Given the description of an element on the screen output the (x, y) to click on. 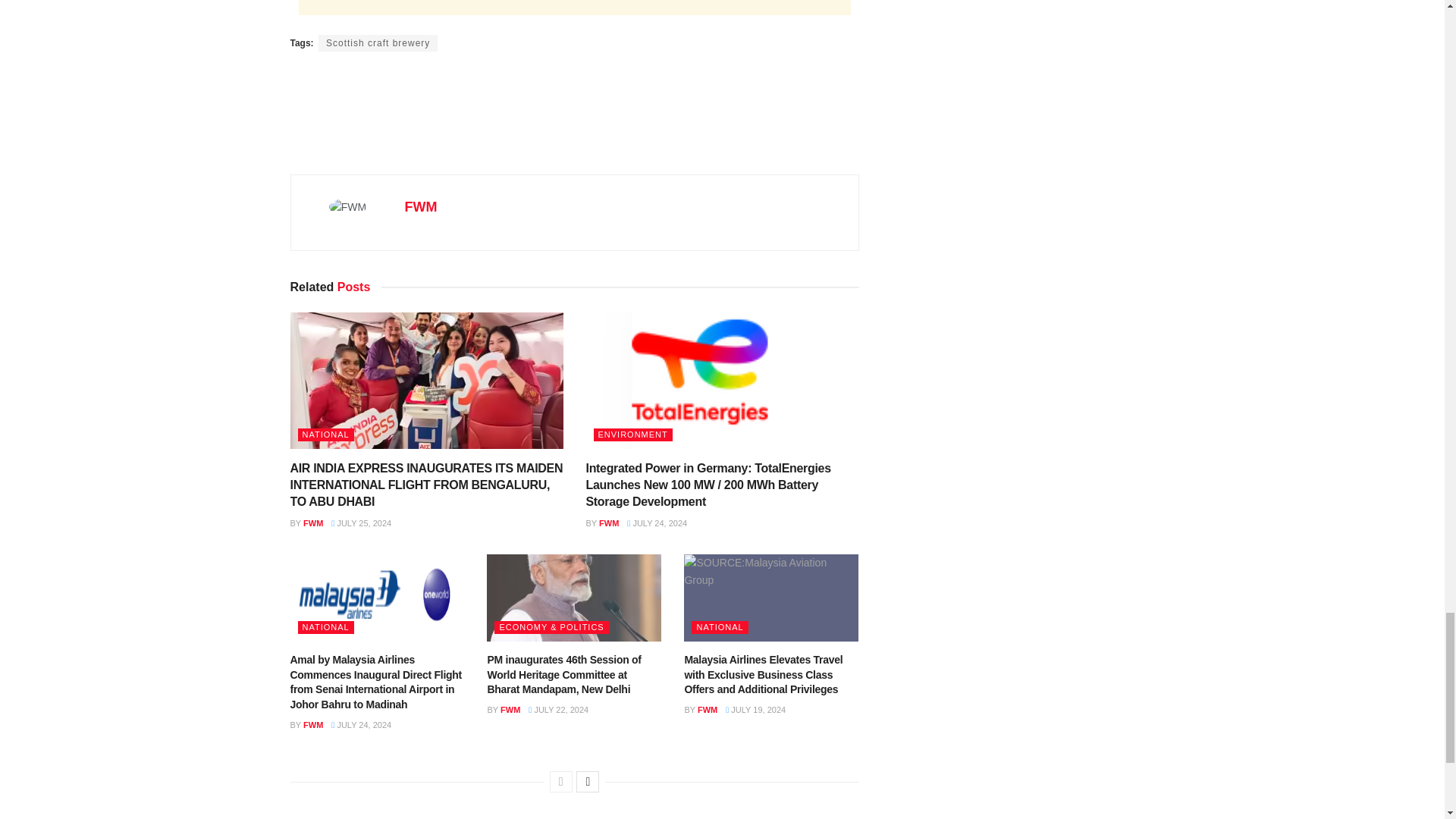
Next (587, 781)
Previous (561, 781)
